Given the description of an element on the screen output the (x, y) to click on. 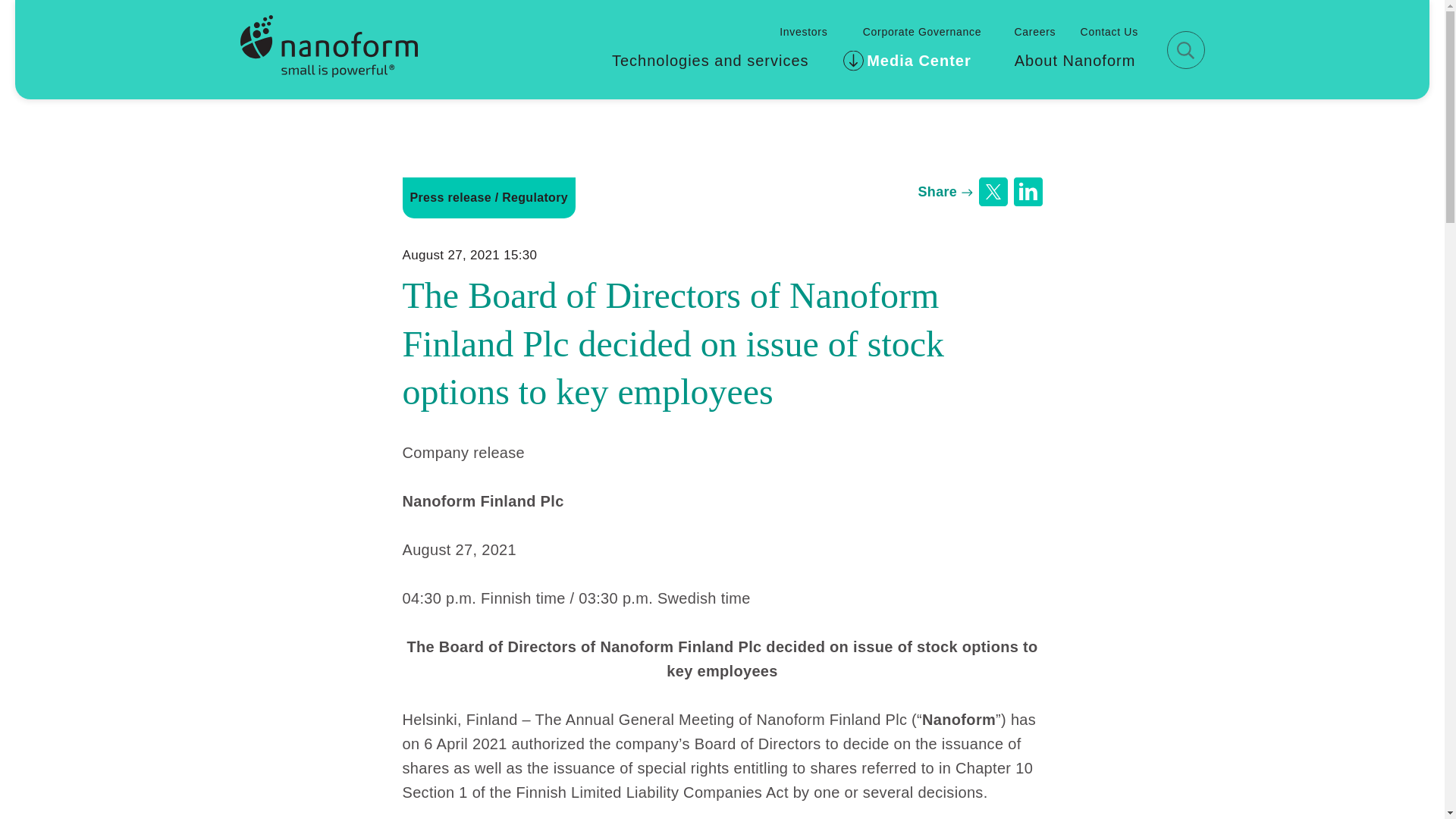
Share on Twitter (992, 191)
Technologies and services (715, 59)
Share on LinkedIn (1027, 191)
Media Center (917, 59)
Search (1185, 48)
About Nanoform (1072, 59)
